Given the description of an element on the screen output the (x, y) to click on. 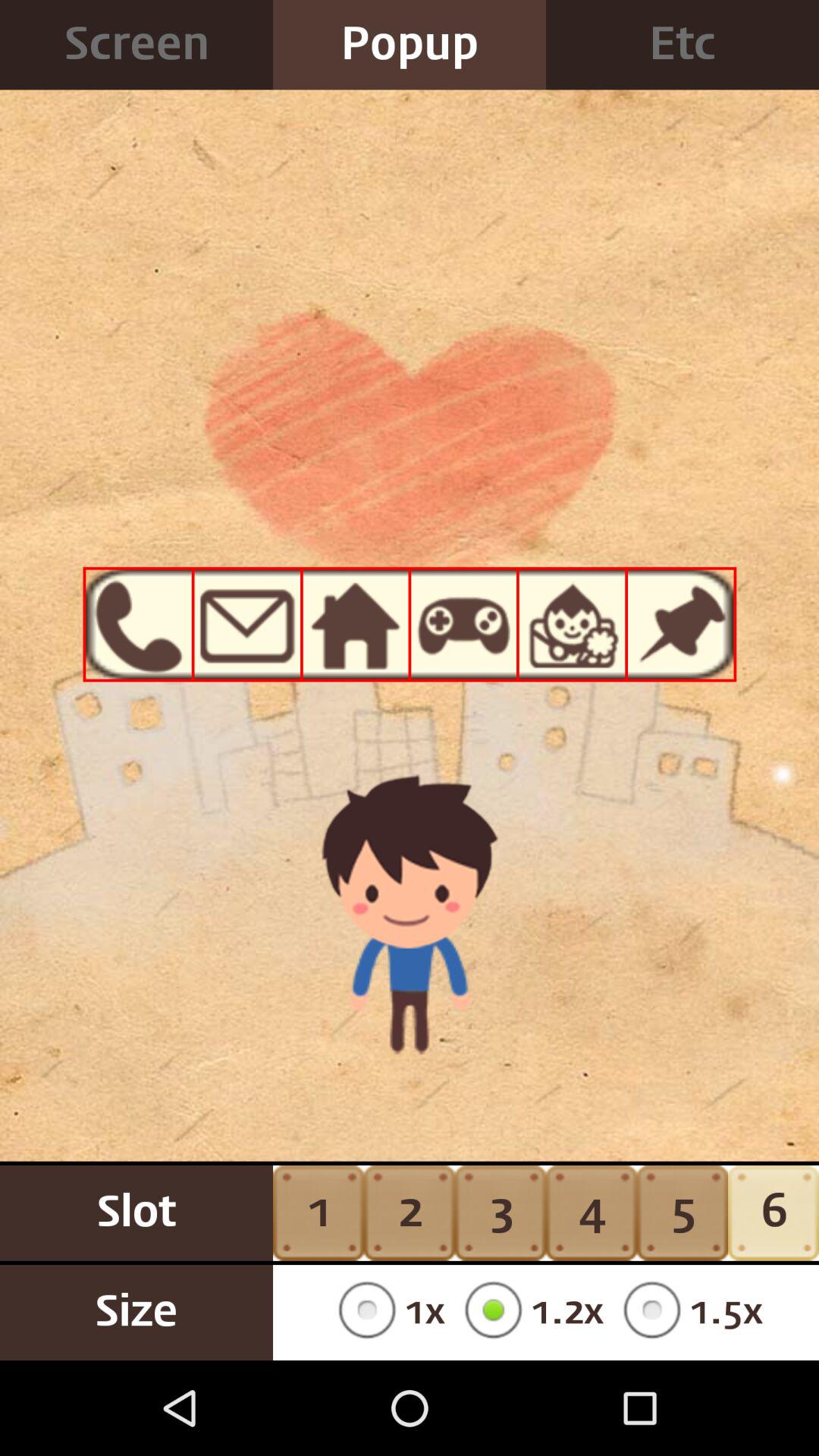
open icon at the center (409, 680)
